Given the description of an element on the screen output the (x, y) to click on. 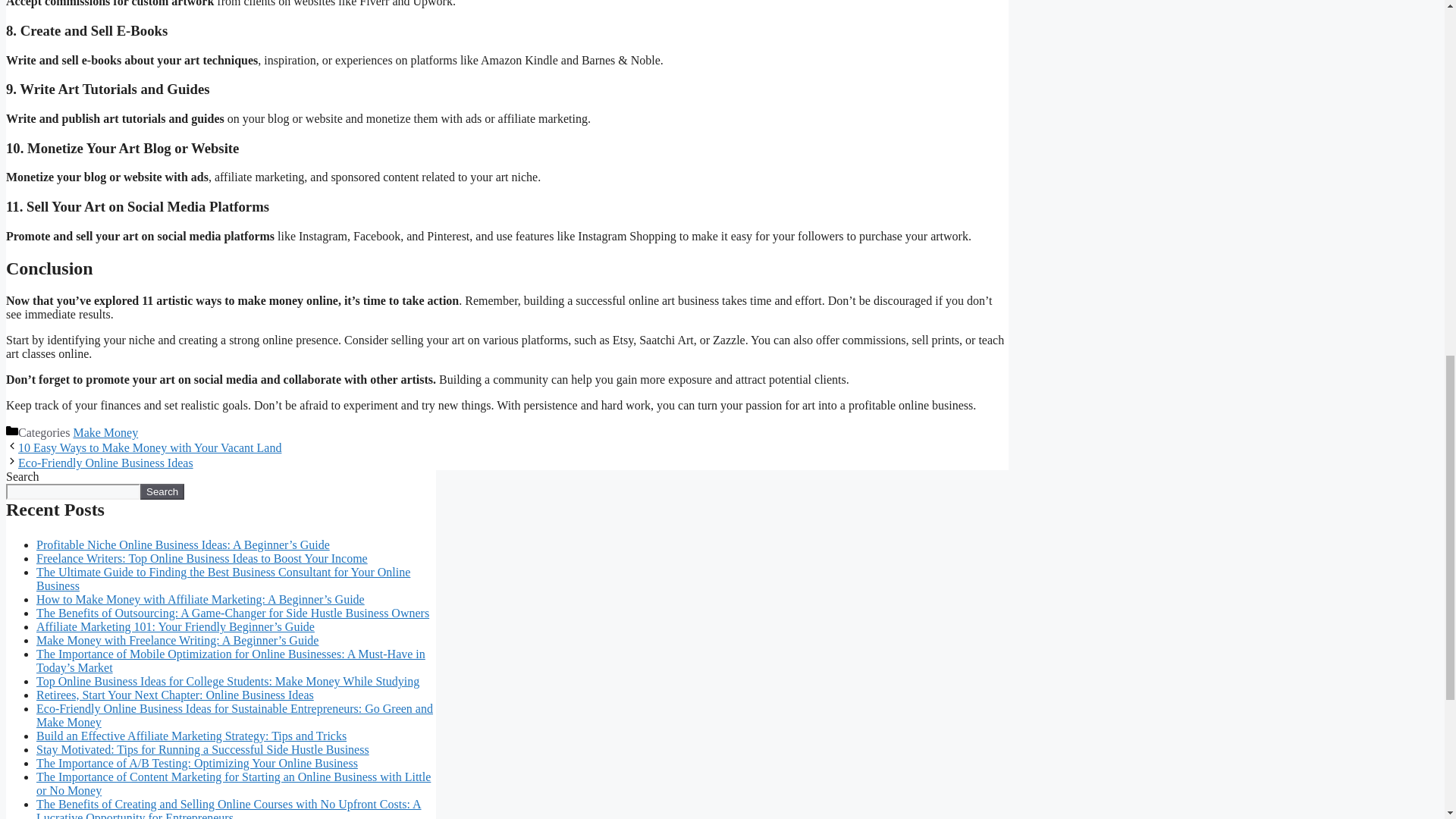
Retirees, Start Your Next Chapter: Online Business Ideas (175, 694)
Eco-Friendly Online Business Ideas (105, 462)
Make Money (105, 431)
